Given the description of an element on the screen output the (x, y) to click on. 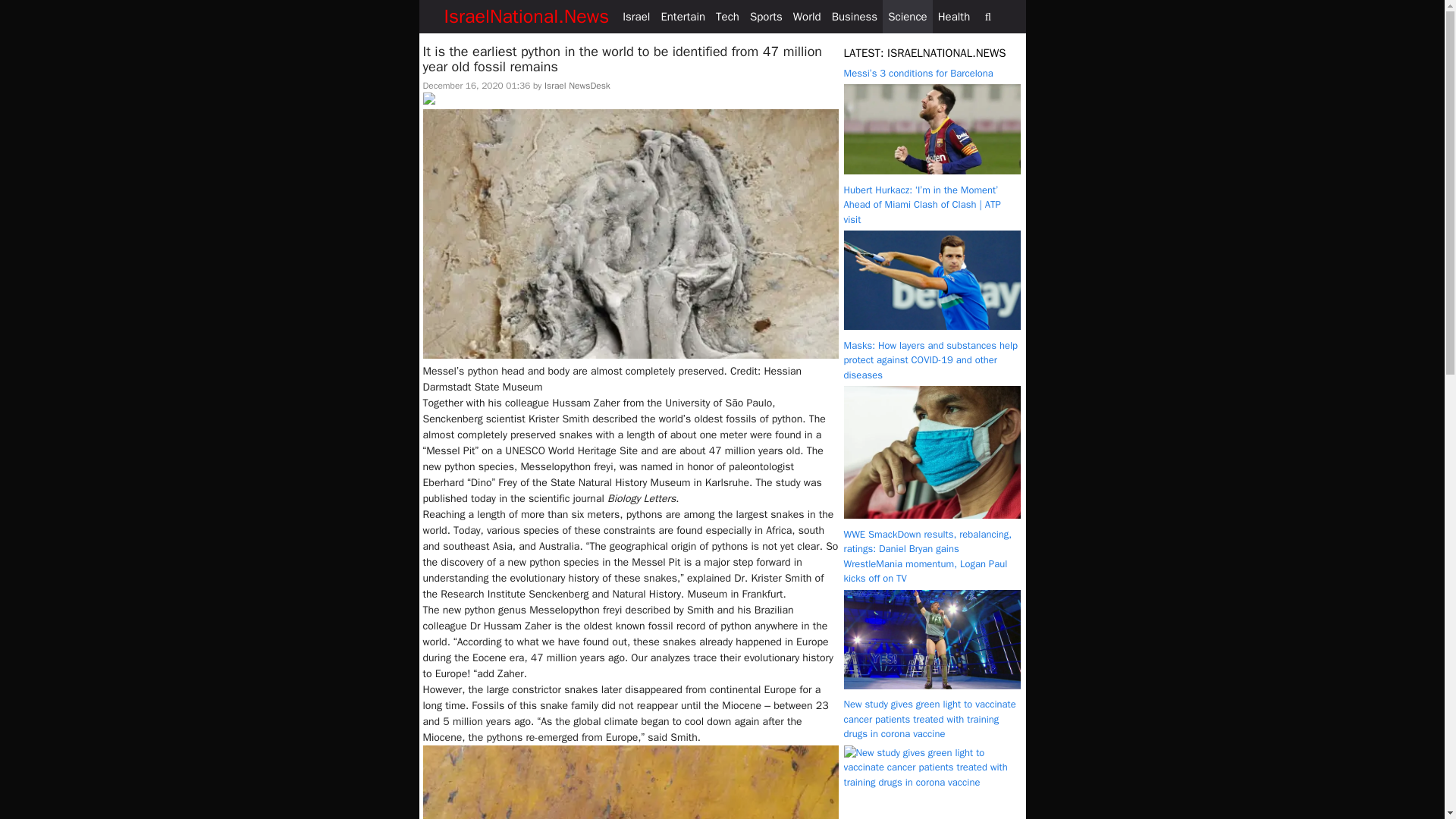
Sports (765, 16)
Science (907, 16)
IsraelNational.News (527, 16)
Israel NewsDesk (577, 85)
Israel (636, 16)
Business (855, 16)
Entertain (682, 16)
World (807, 16)
